Given the description of an element on the screen output the (x, y) to click on. 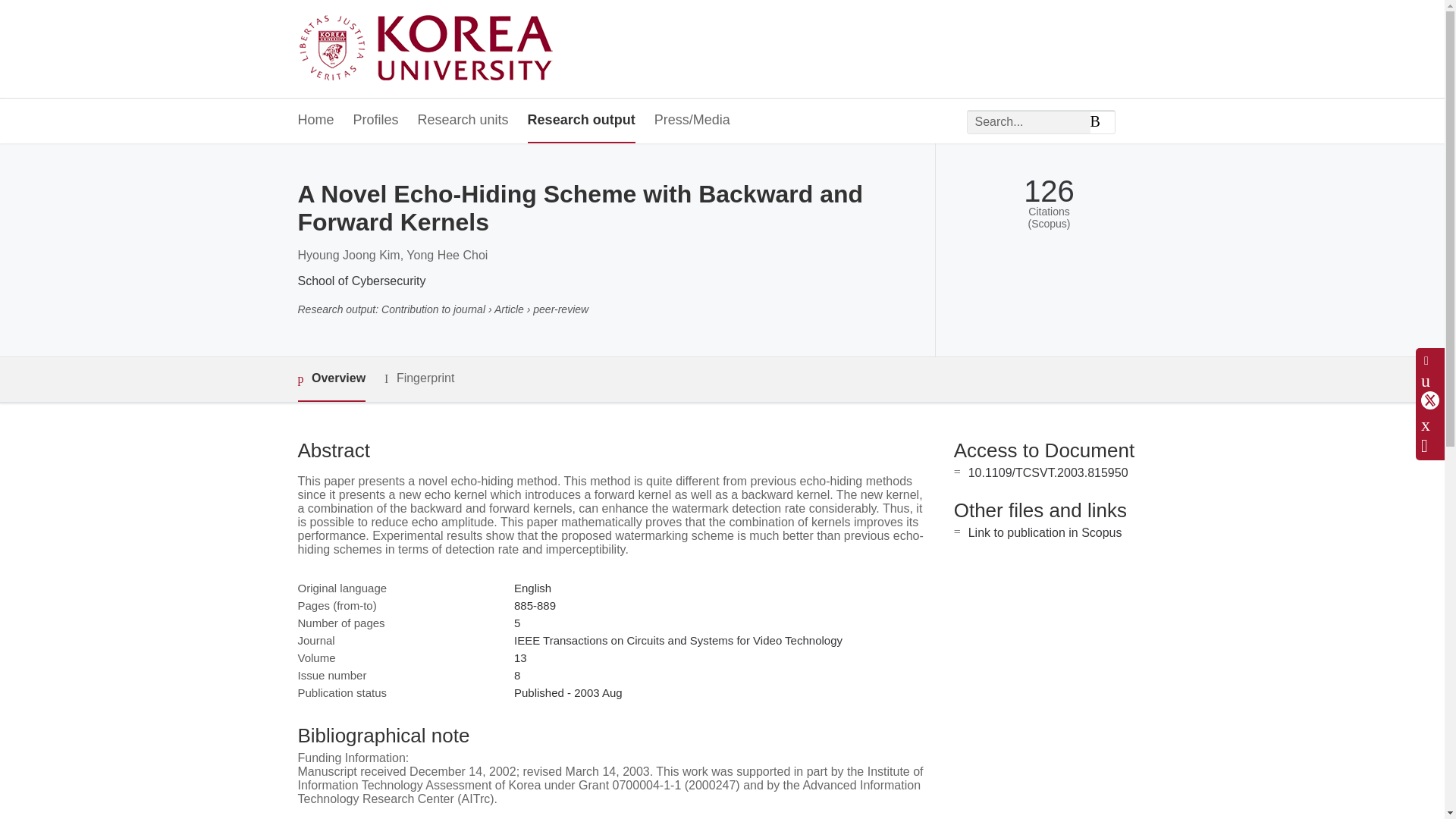
126 (1048, 191)
Research units (462, 120)
School of Cybersecurity (361, 280)
Research output (580, 120)
Link to publication in Scopus (1045, 532)
Fingerprint (419, 378)
Profiles (375, 120)
Overview (331, 379)
